Given the description of an element on the screen output the (x, y) to click on. 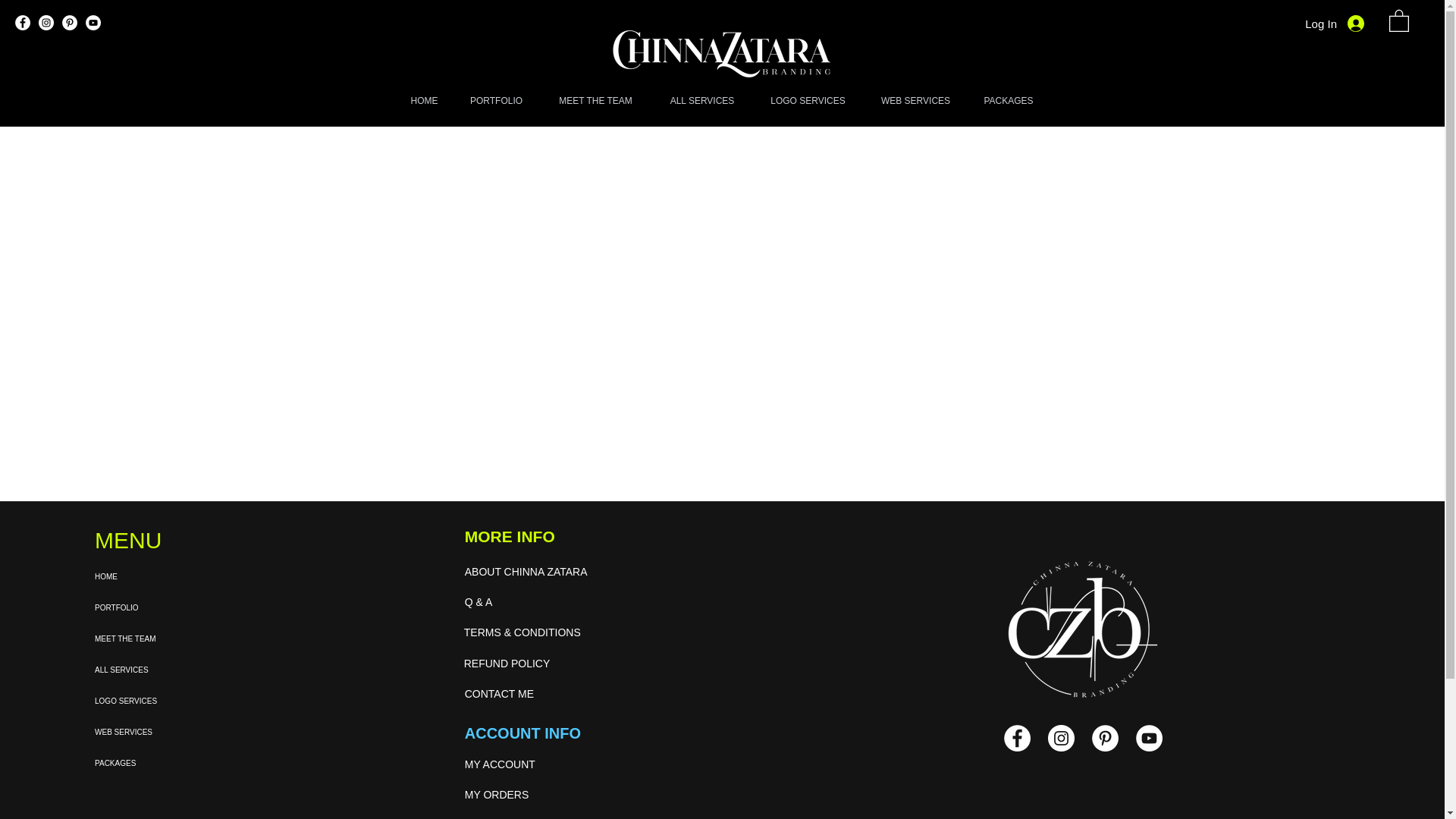
WEB SERVICES (915, 101)
WEB SERVICES (188, 731)
LOGO SERVICES (807, 101)
LOGO SERVICES (188, 700)
PACKAGES (188, 762)
REFUND POLICY (544, 664)
ABOUT CHINNA ZATARA (552, 572)
MY ACCOUNT (542, 765)
PACKAGES (1008, 101)
PORTFOLIO (188, 607)
